Given the description of an element on the screen output the (x, y) to click on. 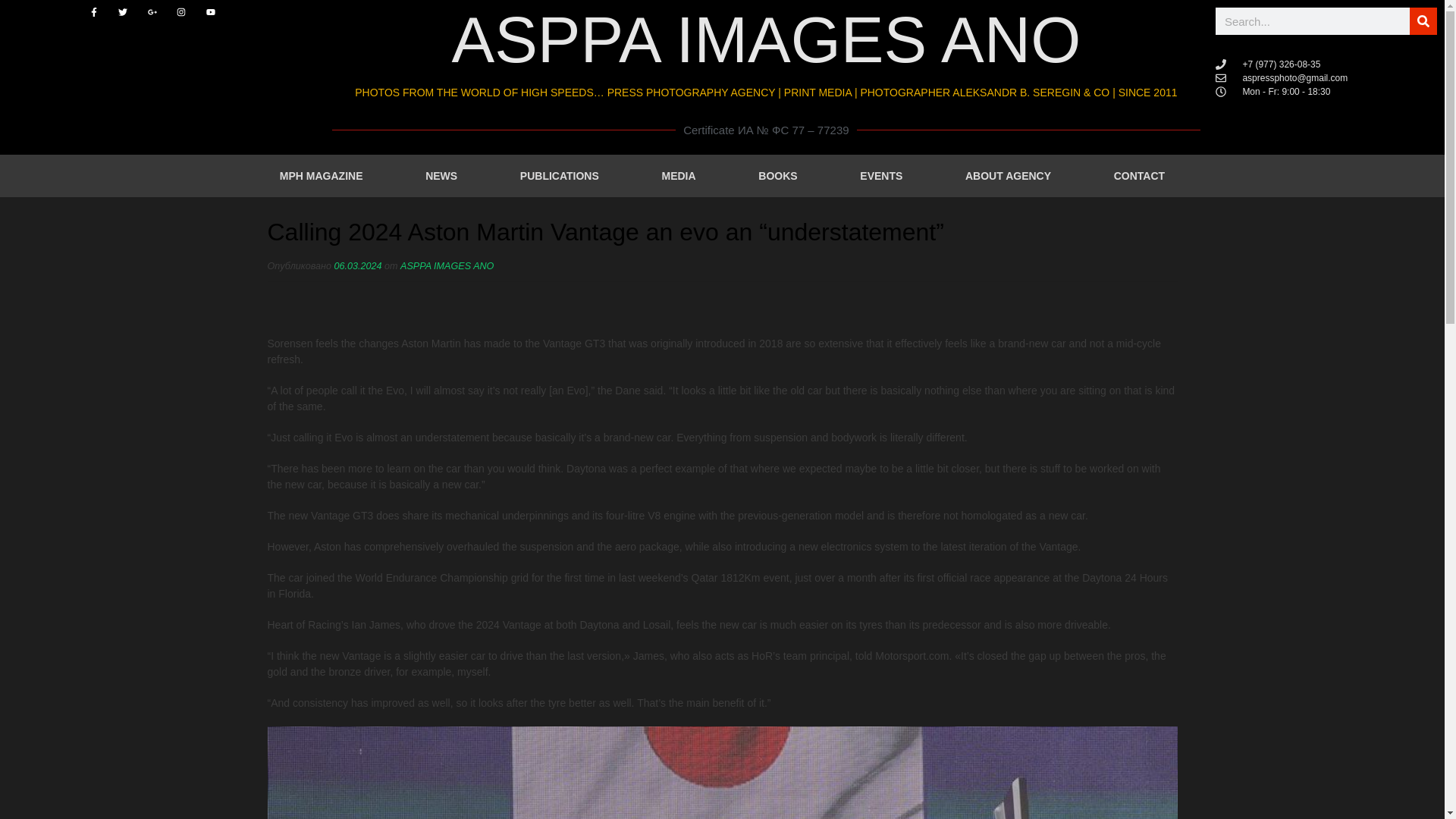
PUBLICATIONS (559, 175)
ASPPA IMAGES ANO (765, 40)
NEWS (441, 175)
06.03.2024 (357, 266)
CONTACT (1138, 175)
MEDIA (678, 175)
BOOKS (777, 175)
ASPPA IMAGES ANO (446, 266)
EVENTS (881, 175)
ABOUT AGENCY (1008, 175)
MPH MAGAZINE (321, 175)
